Given the description of an element on the screen output the (x, y) to click on. 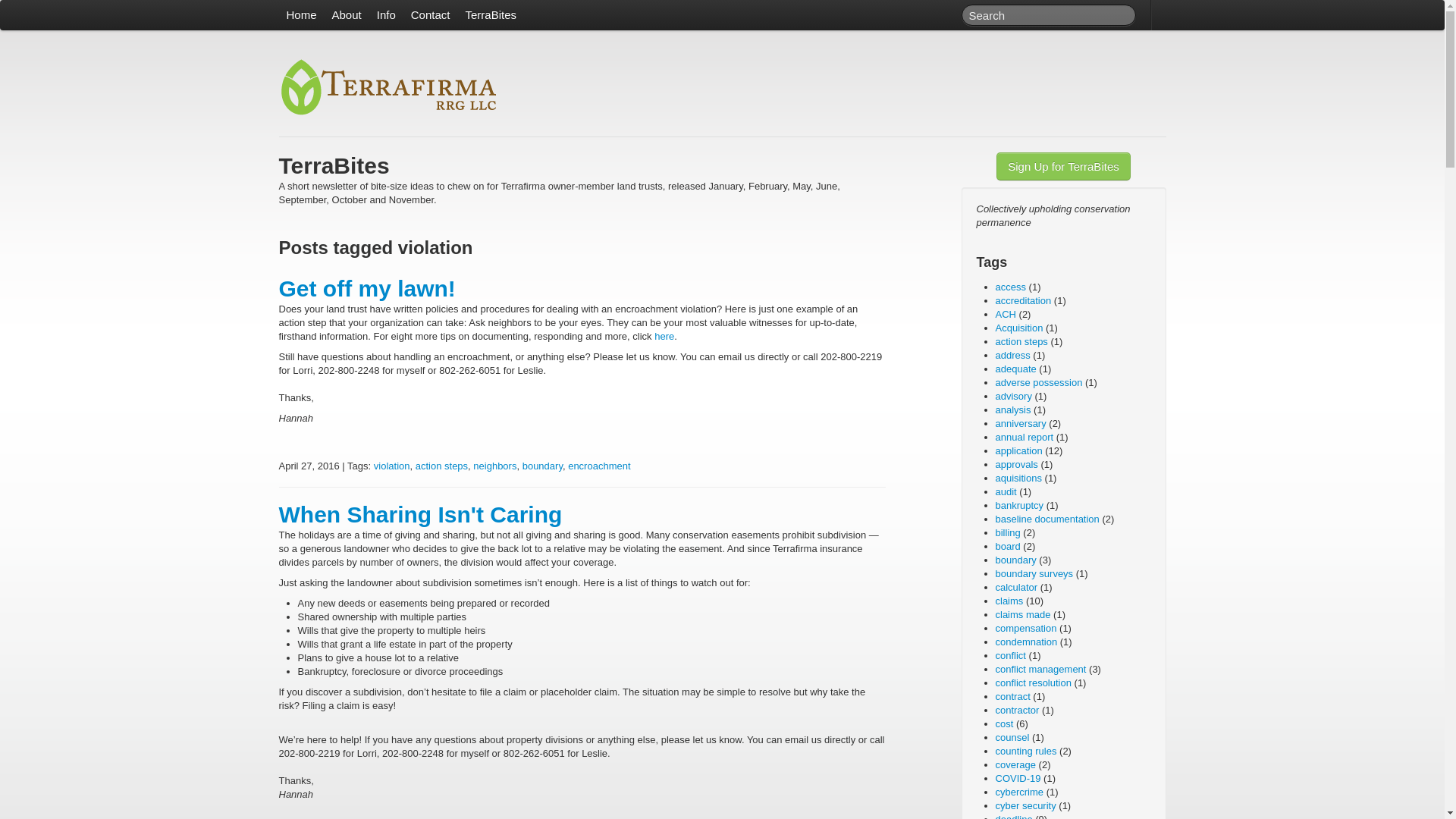
boundary (542, 465)
ACH (1004, 314)
Get off my lawn! (367, 288)
anniversary (1019, 423)
analysis (1012, 409)
here (663, 336)
action steps (1020, 341)
access (1009, 286)
TerraBites (490, 15)
advisory (1012, 396)
